Given the description of an element on the screen output the (x, y) to click on. 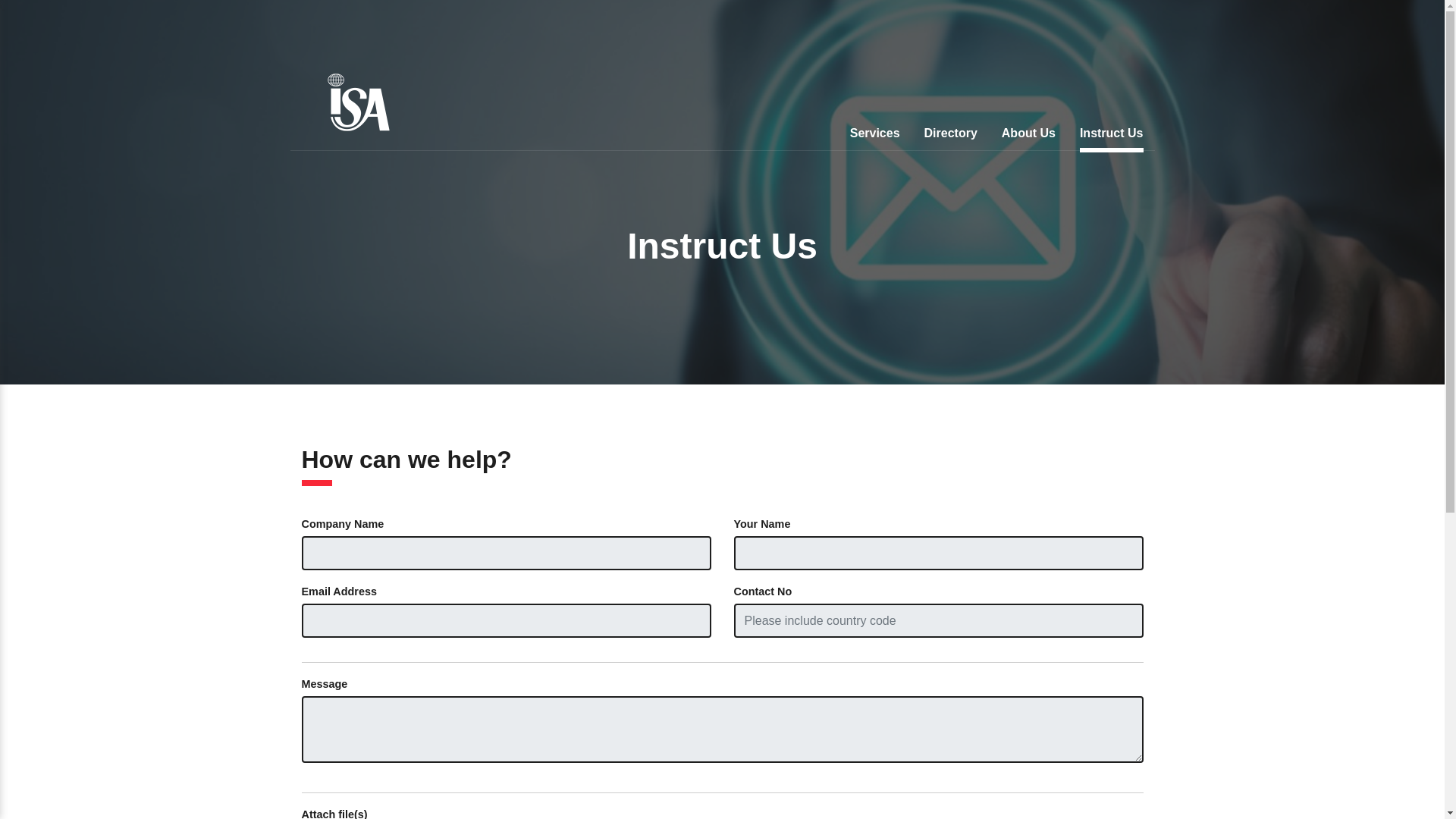
Directory (950, 135)
Directory (950, 135)
Services (874, 135)
Instruct Us (1111, 135)
Services (874, 135)
About Us (1028, 135)
Instruct Us (1111, 135)
About Us (1028, 135)
ISA (357, 102)
